Given the description of an element on the screen output the (x, y) to click on. 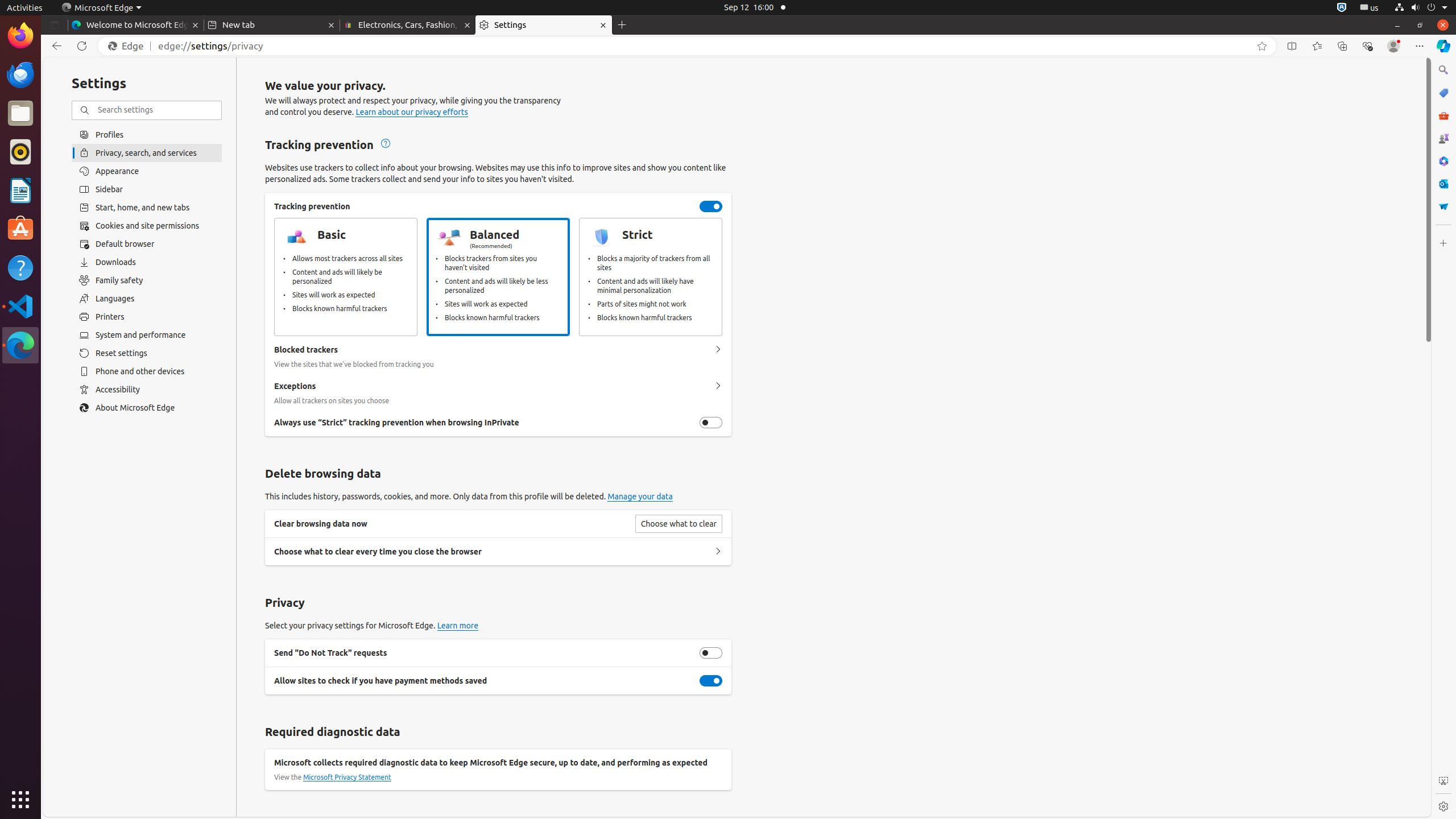
:1.72/StatusNotifierItem Element type: menu (1341, 7)
Rhythmbox Element type: push-button (20, 151)
Tools Element type: push-button (1443, 115)
Manage your data Element type: link (639, 496)
Reset settings Element type: tree-item (146, 353)
